Given the description of an element on the screen output the (x, y) to click on. 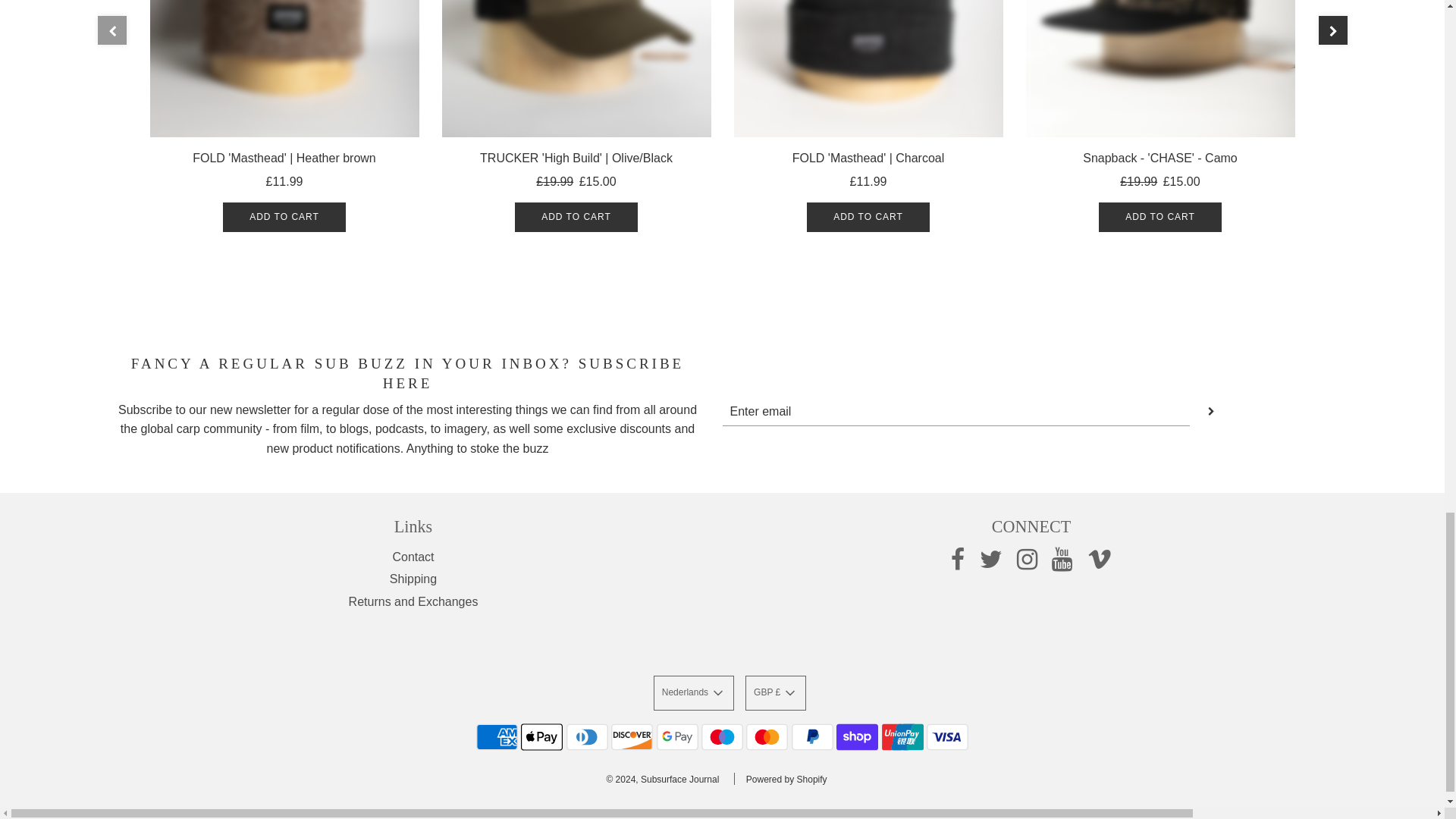
Google Pay (677, 736)
Apple Pay (541, 736)
Diners Club (587, 736)
American Express (497, 736)
Maestro (721, 736)
Mastercard (766, 736)
Snapback - 'CHASE' - Camo (1159, 68)
PayPal (812, 736)
Shop Pay (856, 736)
Discover (631, 736)
